Given the description of an element on the screen output the (x, y) to click on. 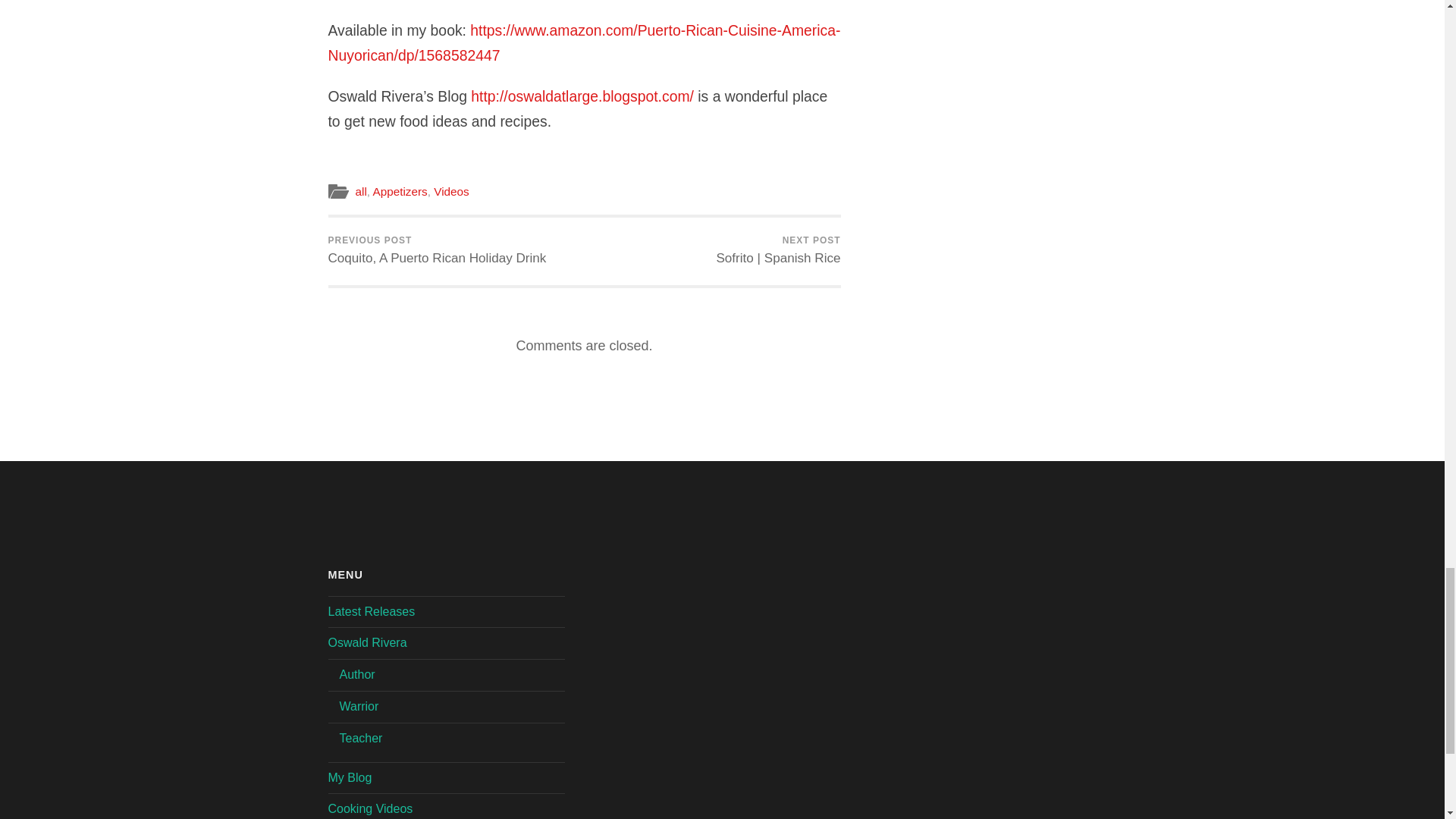
My Blog (349, 777)
Videos (450, 191)
Appetizers (399, 191)
Cooking Videos (369, 808)
Author (357, 674)
Previous post: Coquito, A Puerto Rican Holiday Drink (436, 251)
Oswald Rivera (436, 251)
Warrior (366, 642)
Teacher (358, 706)
Latest Releases (360, 738)
